Given the description of an element on the screen output the (x, y) to click on. 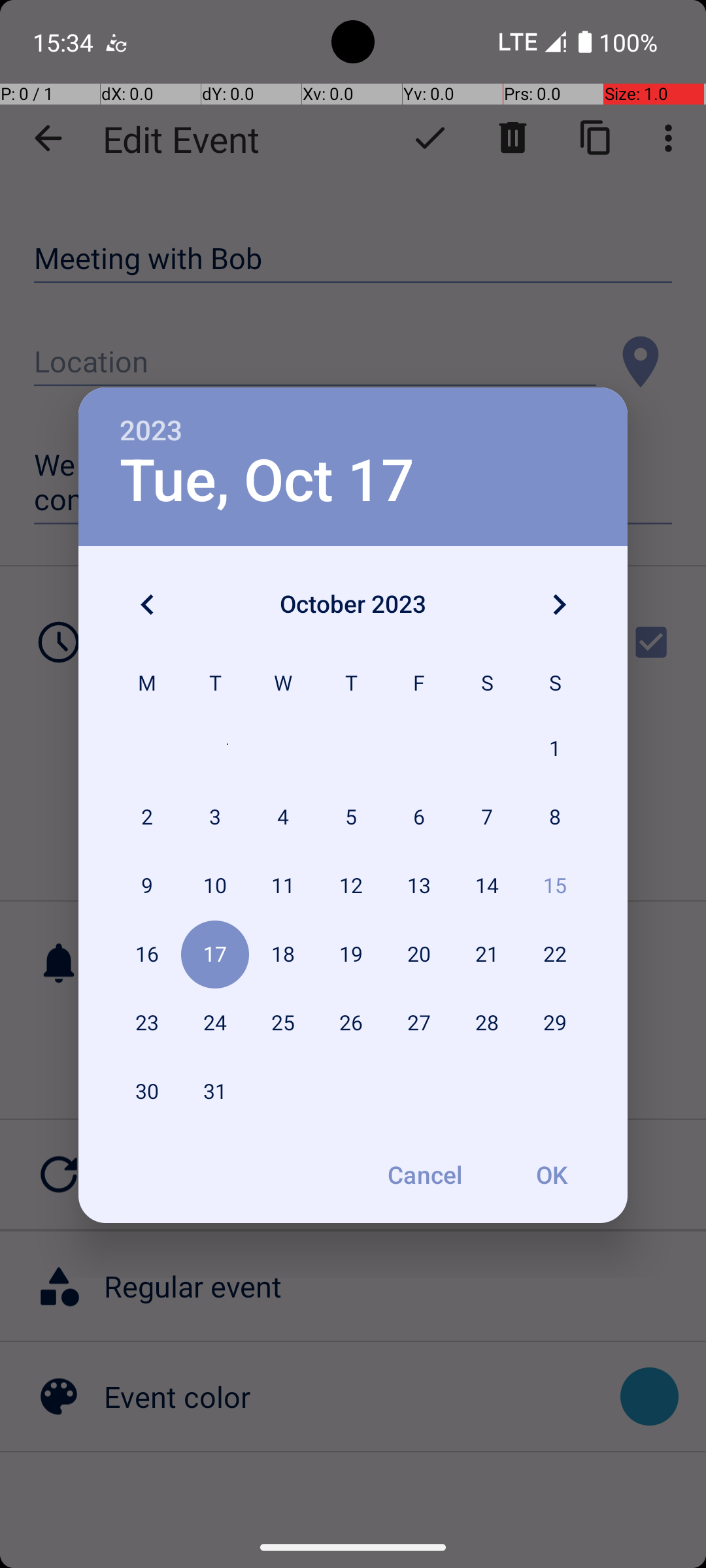
Tue, Oct 17 Element type: android.widget.TextView (267, 480)
